Given the description of an element on the screen output the (x, y) to click on. 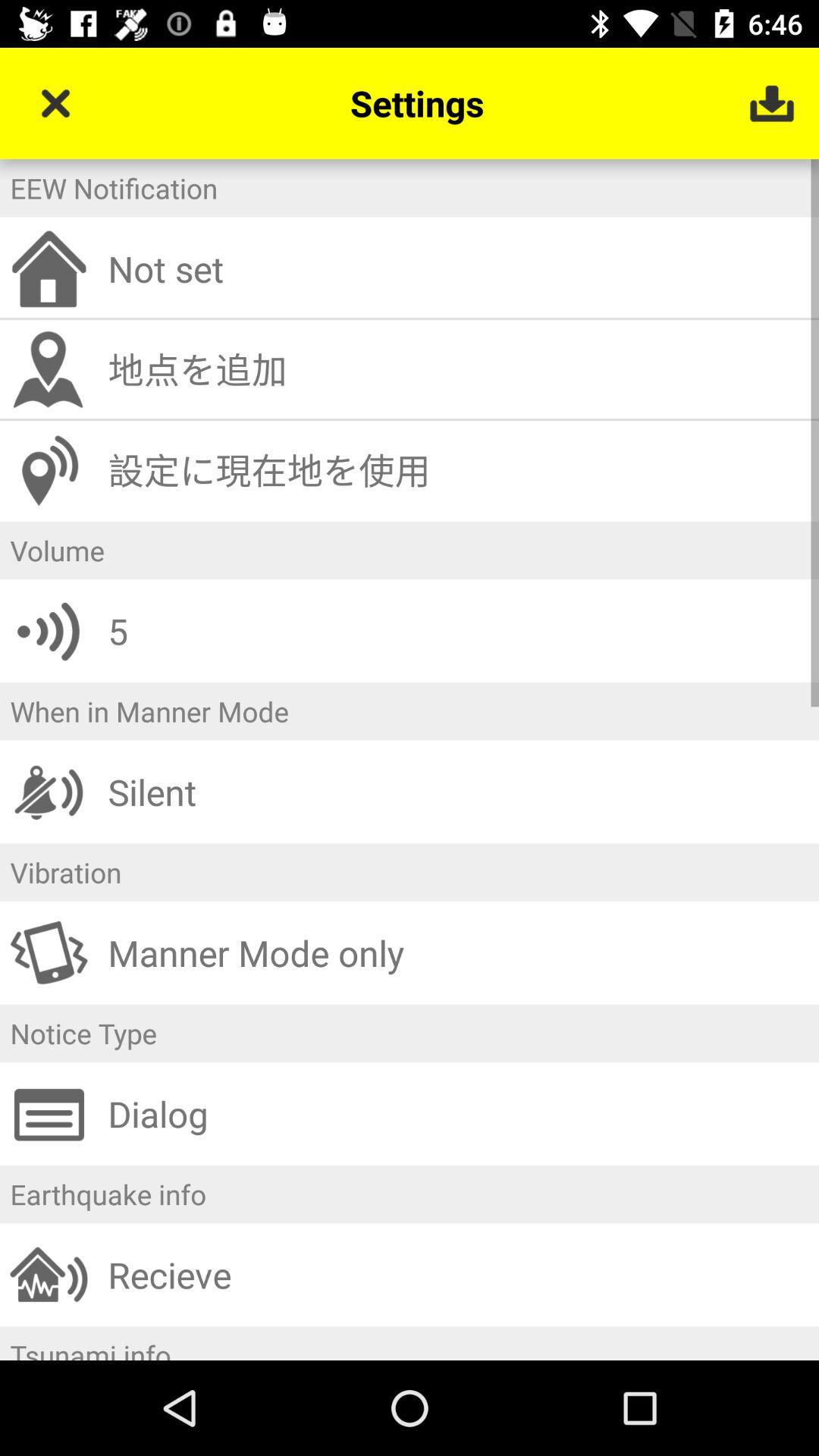
launch the item above the vibration (458, 791)
